Given the description of an element on the screen output the (x, y) to click on. 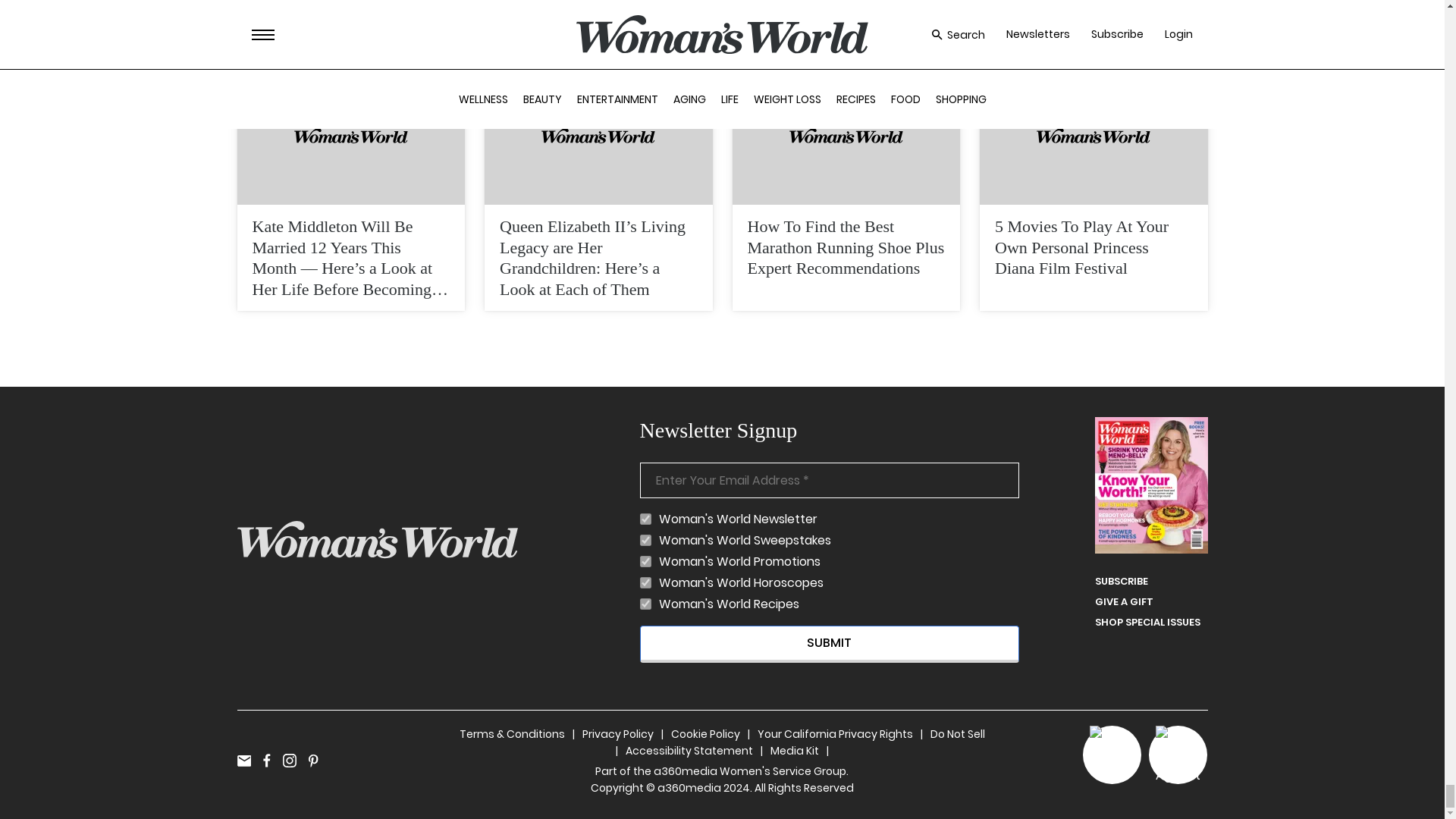
1 (645, 518)
1 (645, 603)
1 (645, 540)
1 (645, 561)
1 (645, 582)
